Given the description of an element on the screen output the (x, y) to click on. 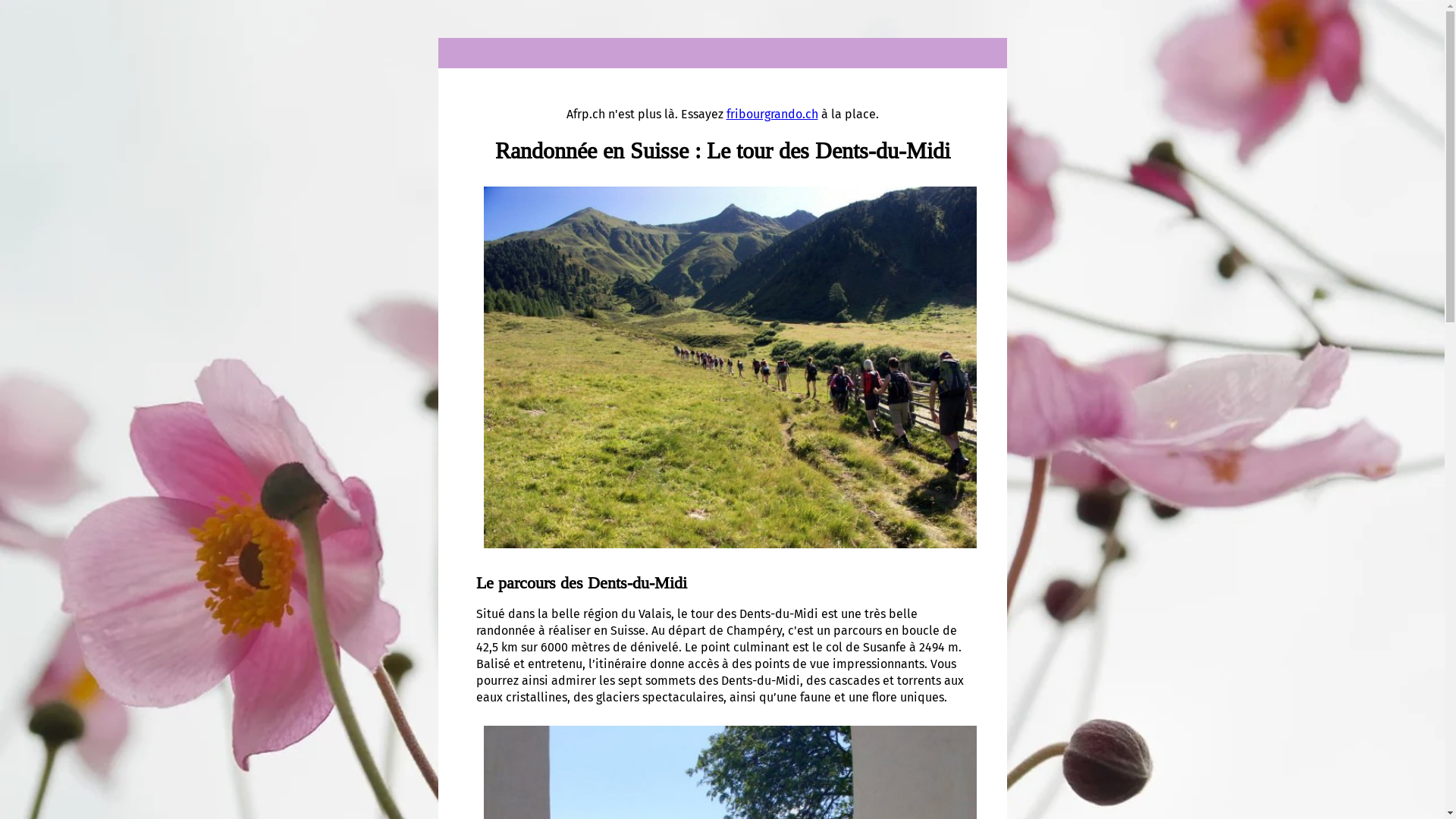
fribourgrando.ch Element type: text (772, 113)
